Given the description of an element on the screen output the (x, y) to click on. 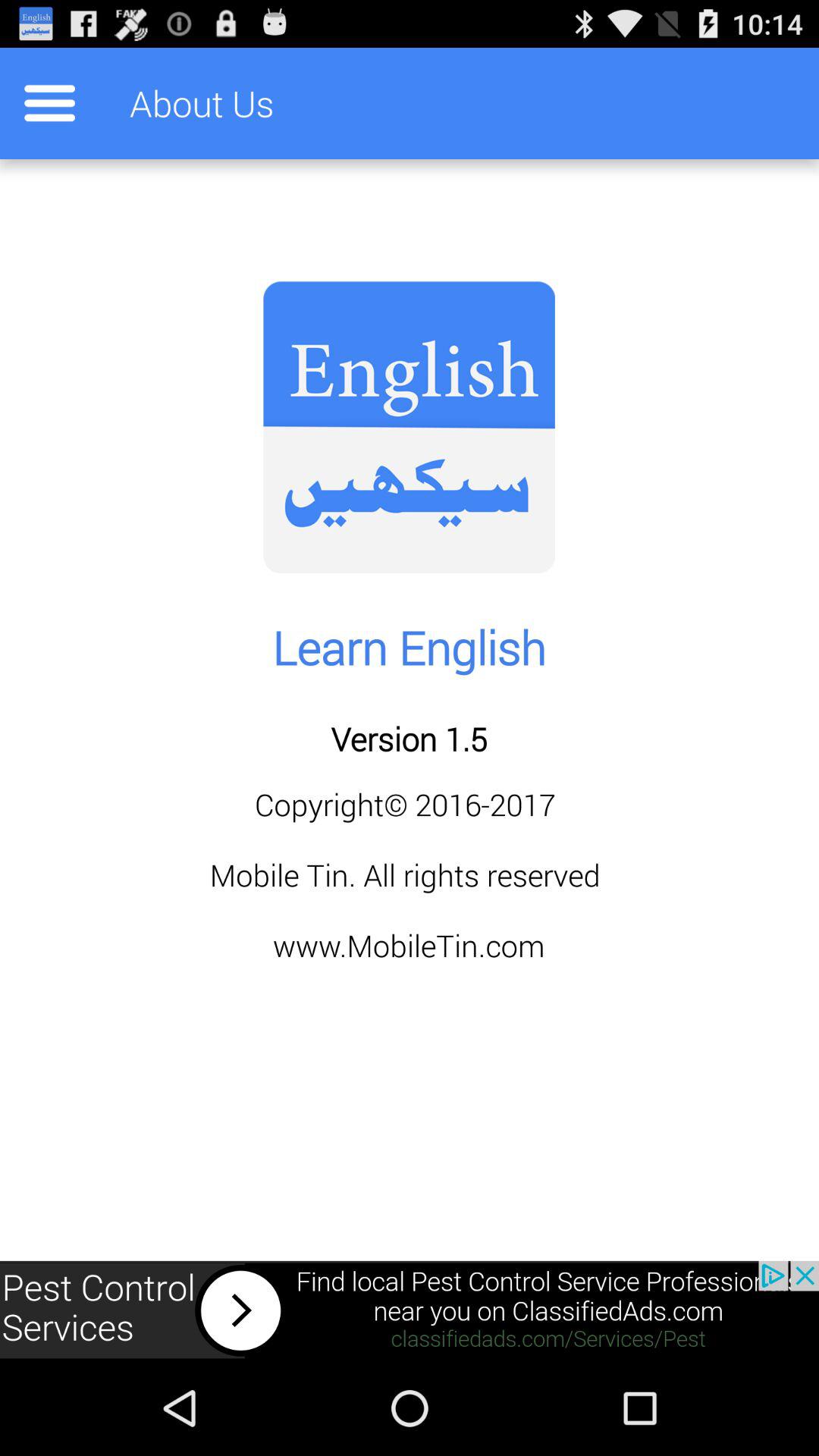
click advertisement (409, 1310)
